Given the description of an element on the screen output the (x, y) to click on. 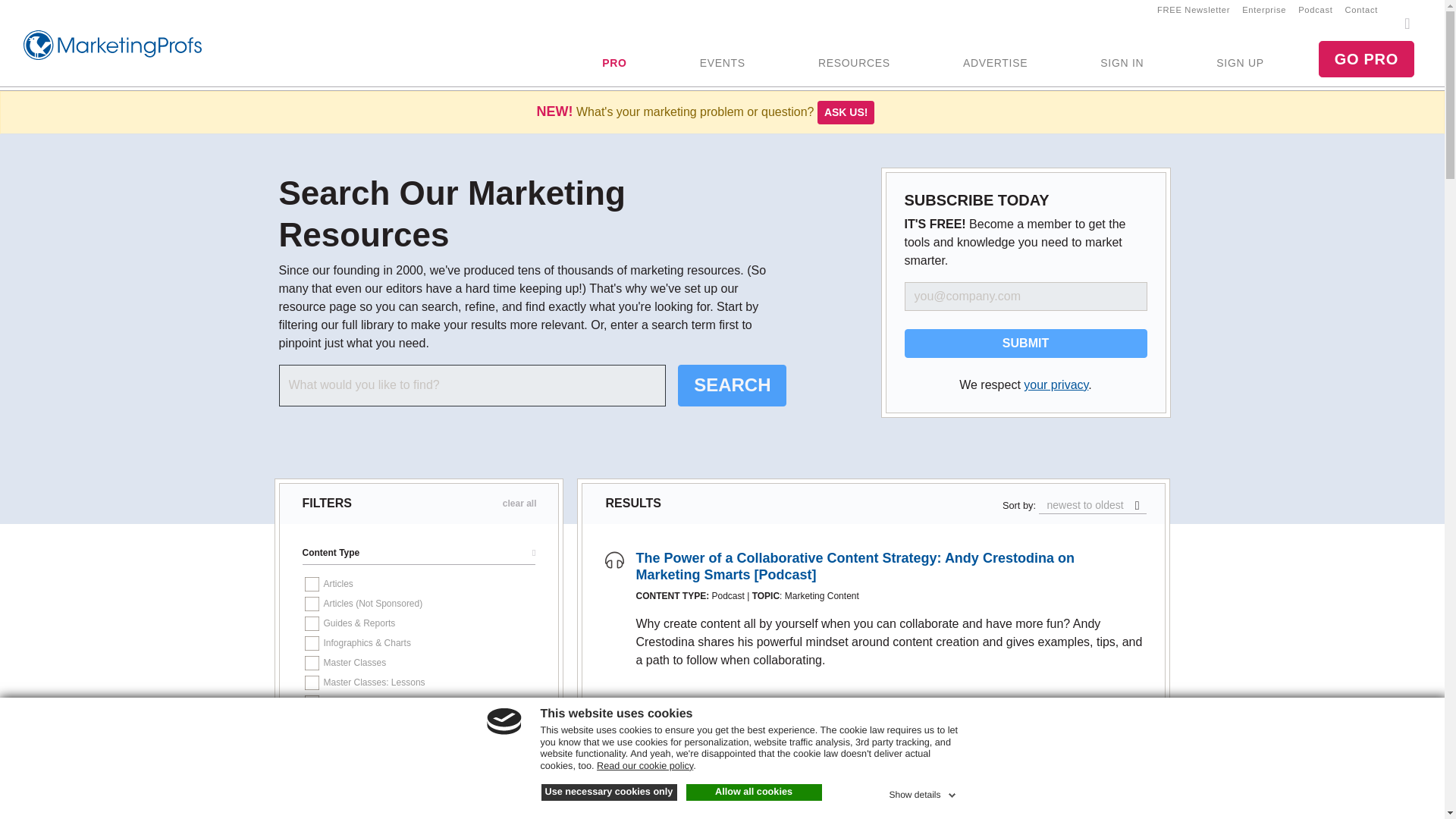
Read our cookie policy (644, 765)
Show details (923, 791)
Use necessary cookies only (609, 791)
Allow all cookies (753, 791)
